Given the description of an element on the screen output the (x, y) to click on. 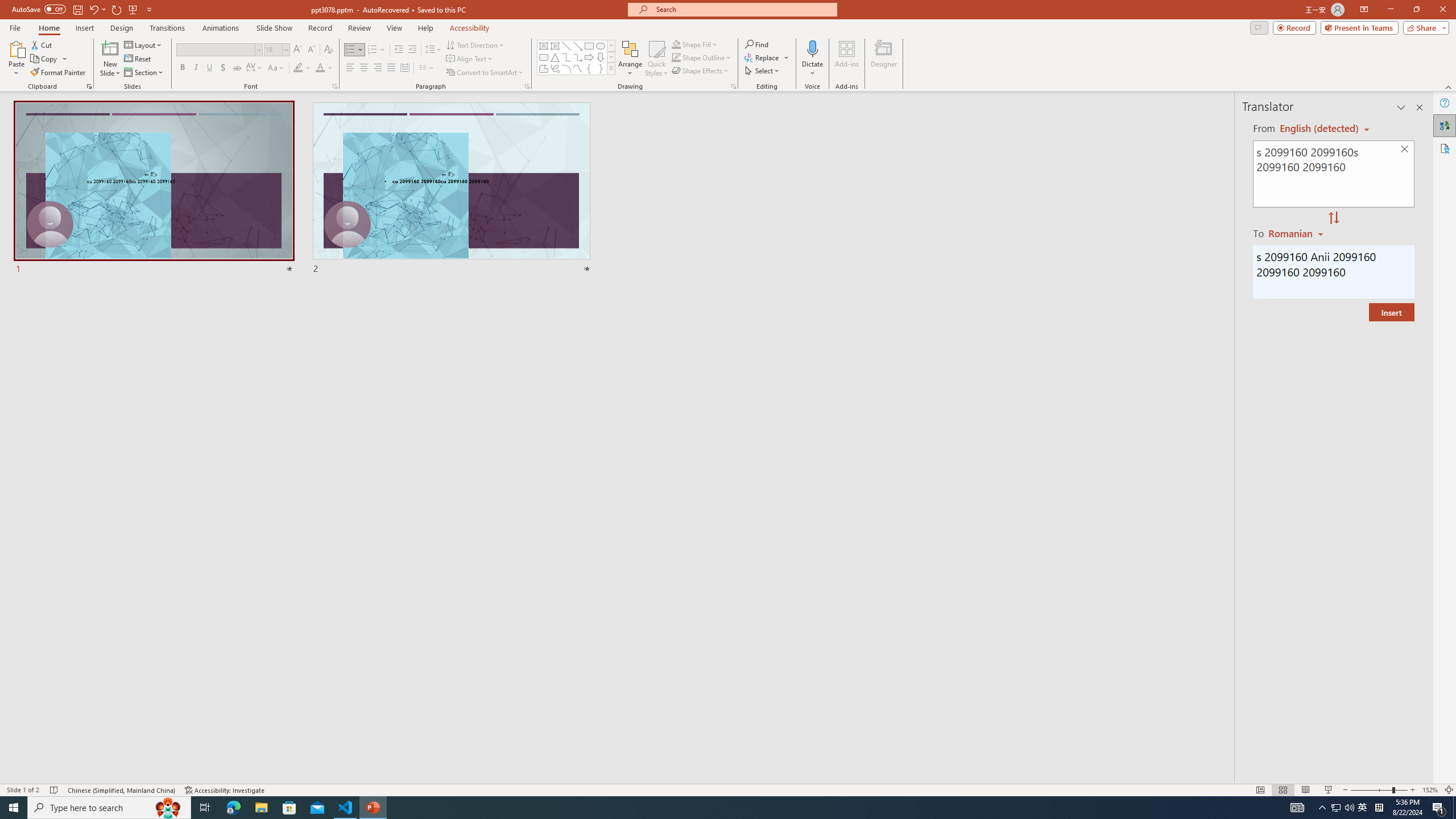
Czech (detected) (1319, 128)
